Given the description of an element on the screen output the (x, y) to click on. 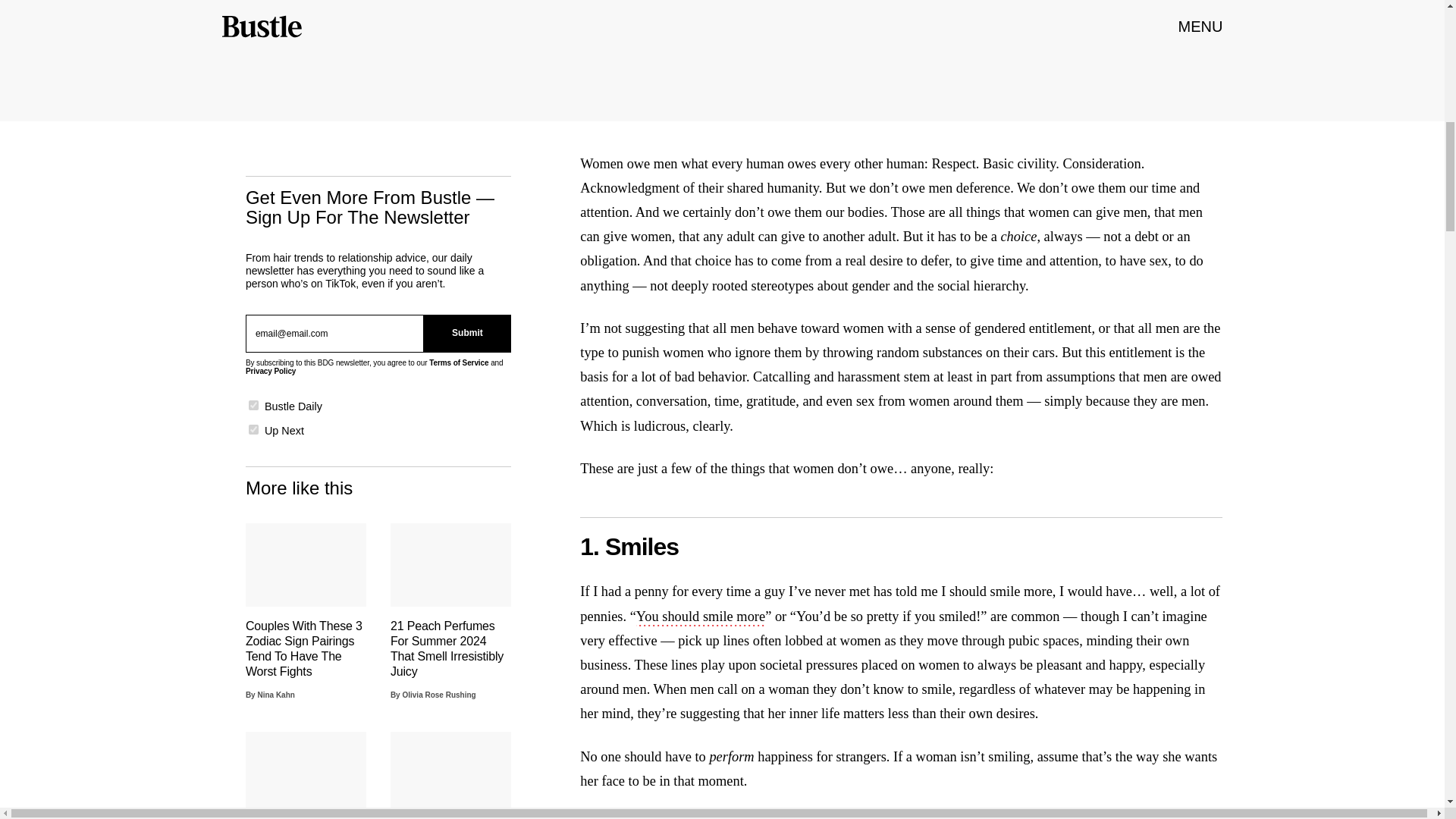
Submit (467, 333)
You should smile more (700, 618)
Privacy Policy (270, 370)
Terms of Service (458, 362)
